Given the description of an element on the screen output the (x, y) to click on. 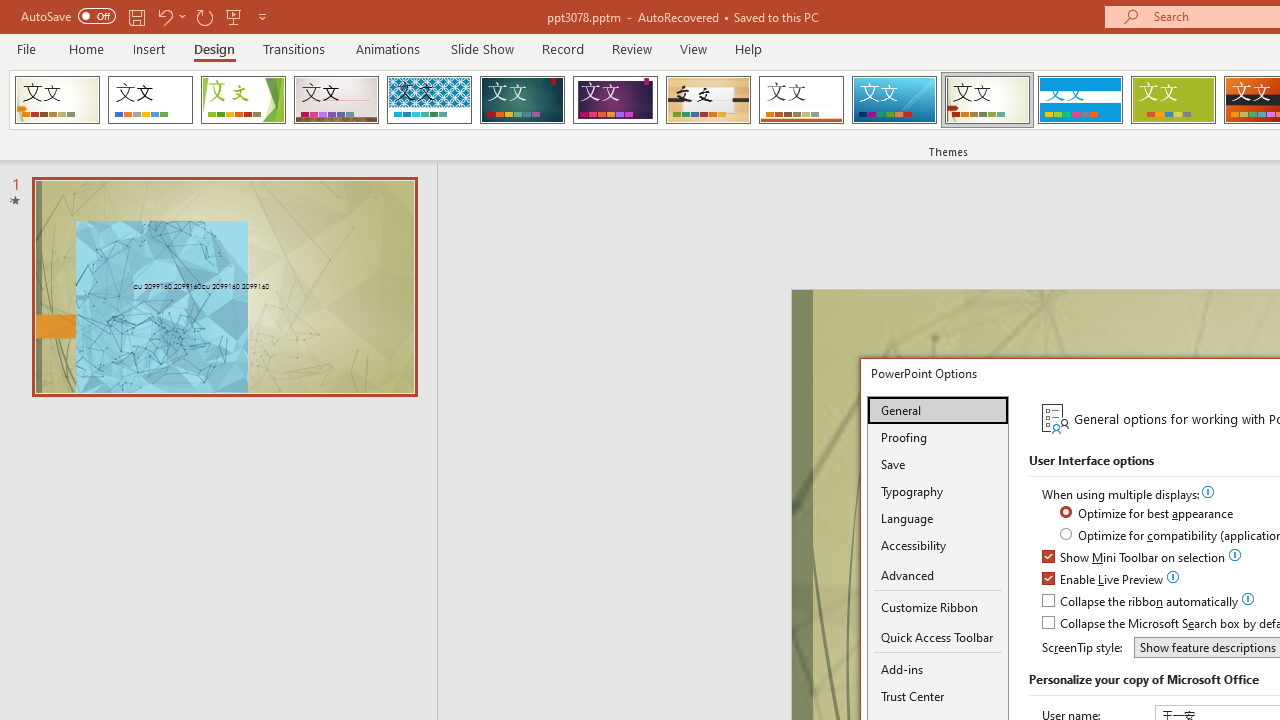
Collapse the ribbon automatically (1141, 602)
Office Theme (150, 100)
